Given the description of an element on the screen output the (x, y) to click on. 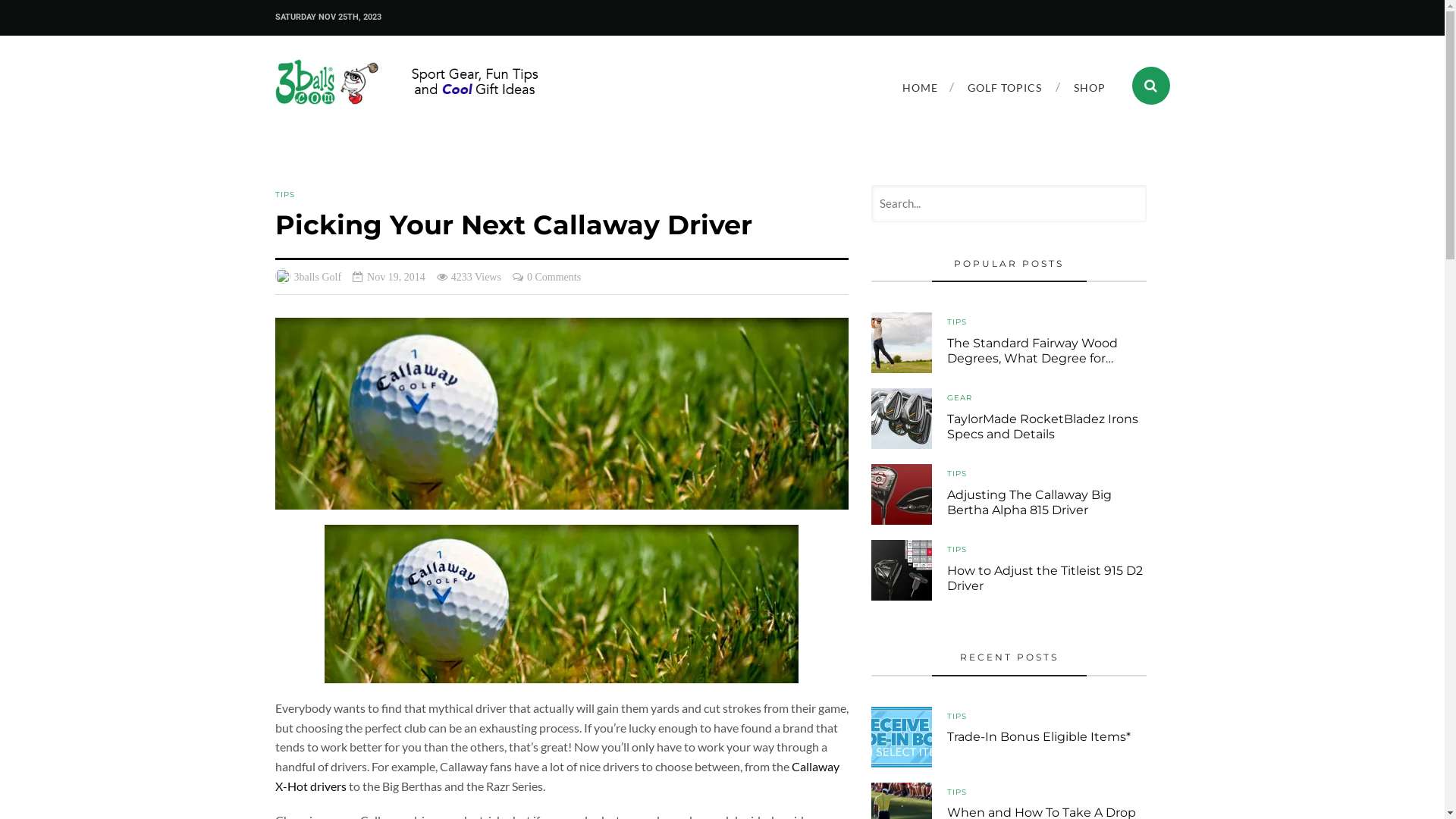
HOME Element type: text (919, 87)
TaylorMade RocketBladez Irons Specs and Details Element type: text (1042, 426)
TIPS Element type: text (284, 194)
Trade-In Bonus Eligible Items* Element type: hover (901, 736)
Search for: Element type: hover (1008, 203)
TIPS Element type: text (956, 792)
GEAR Element type: text (959, 397)
TIPS Element type: text (956, 549)
How to Adjust the Titleist 915 D2 Driver Element type: hover (901, 569)
Trade-In Bonus Eligible Items* Element type: text (1038, 736)
Adjusting The Callaway Big Bertha Alpha 815 Driver Element type: text (1029, 502)
SHOP Element type: text (1088, 87)
Picking Your Next Callaway Driver Element type: hover (561, 413)
How to Adjust the Titleist 915 D2 Driver Element type: text (1044, 578)
TIPS Element type: text (956, 473)
TaylorMade RocketBladez Irons Specs and Details Element type: hover (901, 418)
Adjusting The Callaway Big Bertha Alpha 815 Driver Element type: hover (901, 494)
TIPS Element type: text (956, 321)
Search Element type: text (137, 17)
Callaway X-Hot drivers Element type: text (556, 776)
GOLF TOPICS Element type: text (1003, 87)
TIPS Element type: text (956, 716)
